Given the description of an element on the screen output the (x, y) to click on. 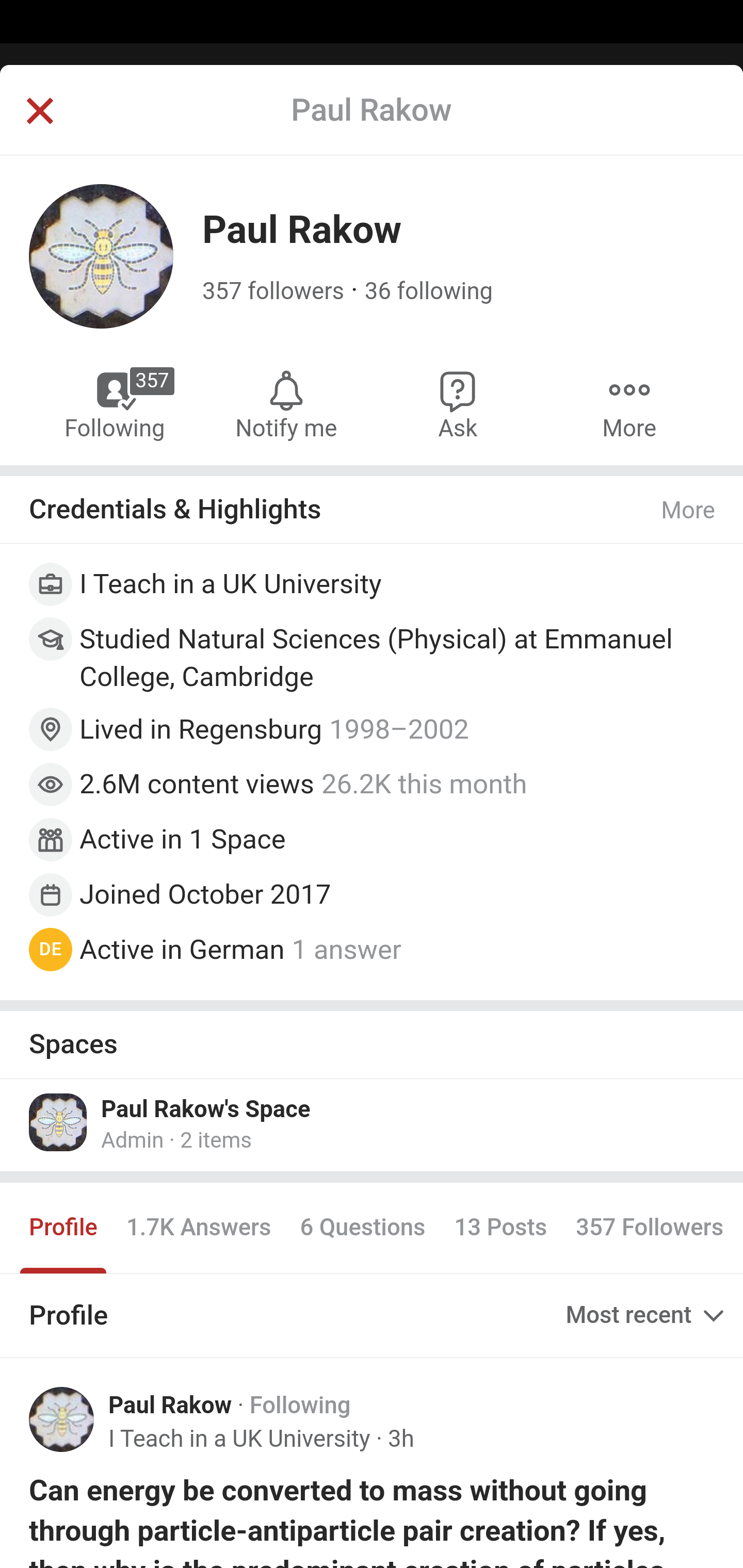
Back Test Appium (371, 125)
 (39, 112)
357 followers (273, 291)
36 following (428, 291)
Following Paul Rakow 357 Following (115, 404)
Notify me (285, 404)
Ask (458, 404)
More (628, 404)
More (688, 510)
Add employment credential (372, 587)
Add education credential (372, 642)
Icon for Paul Rakow's Space (58, 1121)
Paul Rakow's Space (206, 1108)
Profile (63, 1227)
1.7K Answers (197, 1227)
6 Questions (362, 1227)
13 Posts (500, 1227)
357 Followers (648, 1227)
Most recent (647, 1315)
Profile photo for Paul Rakow (61, 1419)
Paul Rakow (170, 1405)
Following (300, 1405)
3h 3 h (400, 1439)
